Given the description of an element on the screen output the (x, y) to click on. 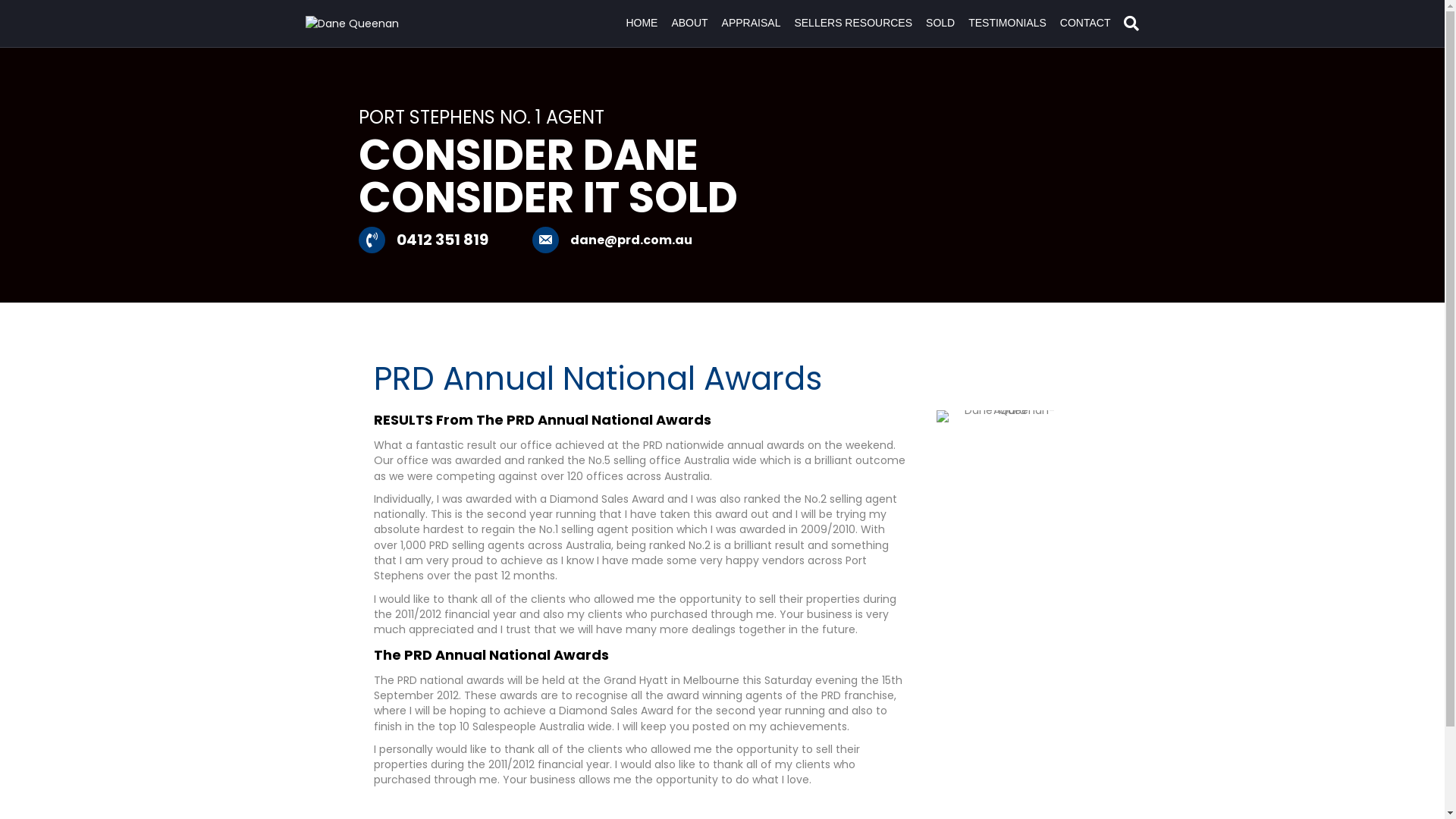
ABOUT Element type: text (689, 23)
SELLERS RESOURCES Element type: text (853, 23)
CONTACT Element type: text (1085, 23)
TESTIMONIALS Element type: text (1007, 23)
SOLD Element type: text (940, 23)
HOME Element type: text (641, 23)
APPRAISAL Element type: text (751, 23)
Dane-Queenan-Award Element type: hover (1003, 416)
